Given the description of an element on the screen output the (x, y) to click on. 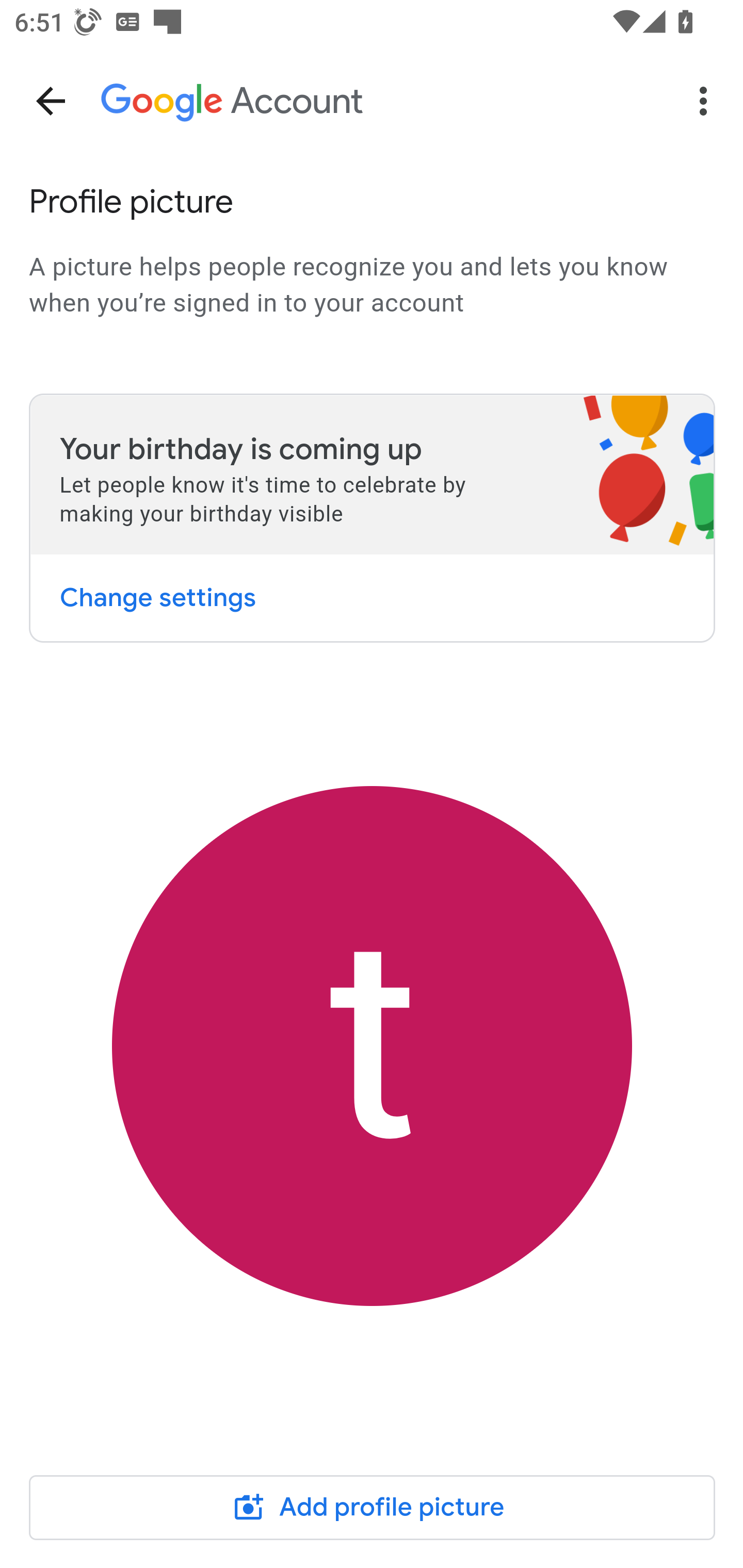
Navigate up (50, 101)
More options (706, 101)
Change settings (157, 596)
Add profile picture (372, 1506)
